Given the description of an element on the screen output the (x, y) to click on. 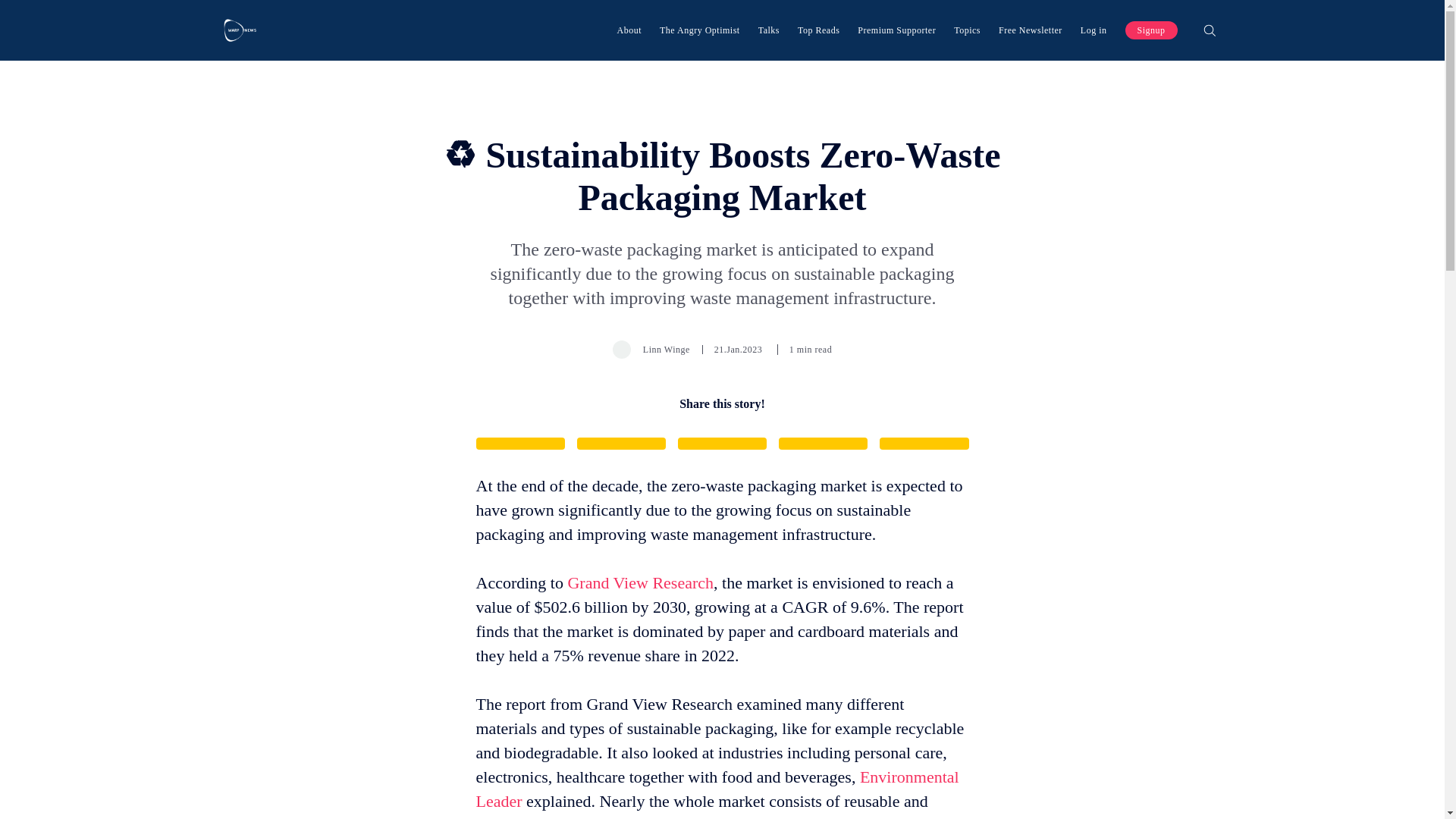
Topics (966, 29)
Signup (1151, 30)
Share on Facebook (620, 443)
Share on Twitter (520, 443)
Environmental Leader (717, 788)
Share via Email (822, 443)
Log in (1093, 29)
Copy link (923, 443)
About (629, 29)
Linn Winge (666, 349)
